Given the description of an element on the screen output the (x, y) to click on. 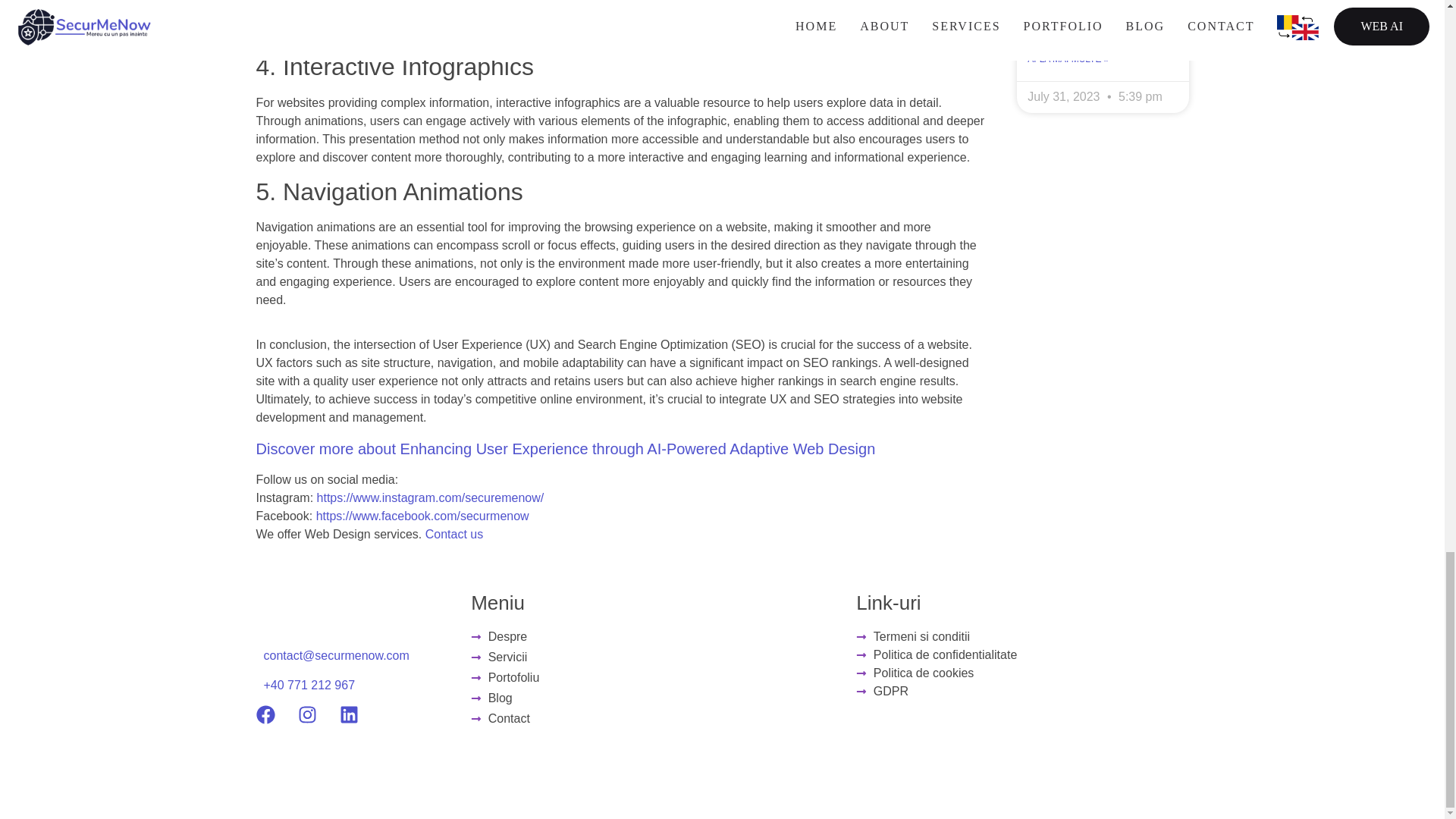
Contact us (454, 533)
securmenow (494, 515)
